Given the description of an element on the screen output the (x, y) to click on. 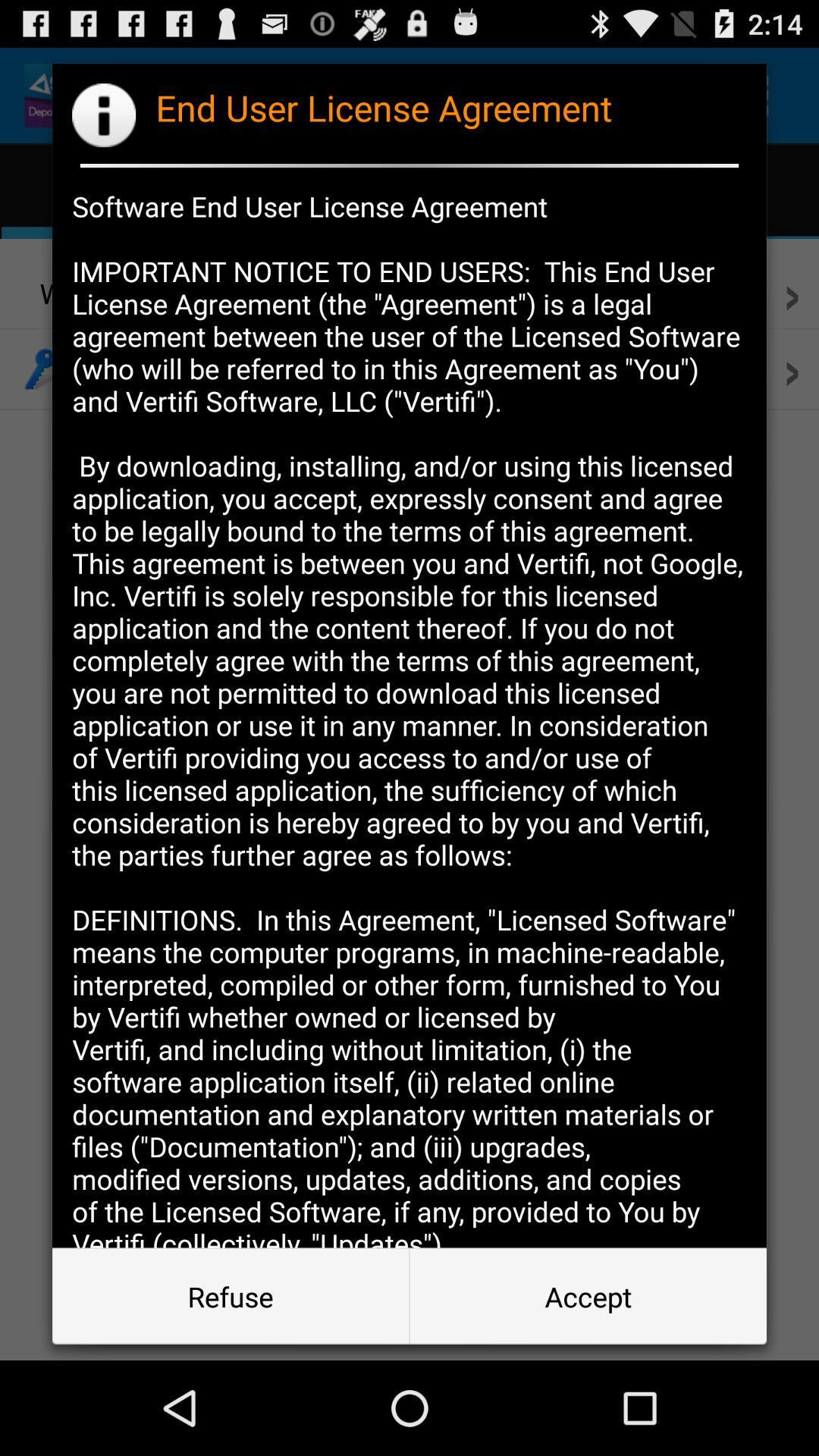
choose accept button (588, 1296)
